Given the description of an element on the screen output the (x, y) to click on. 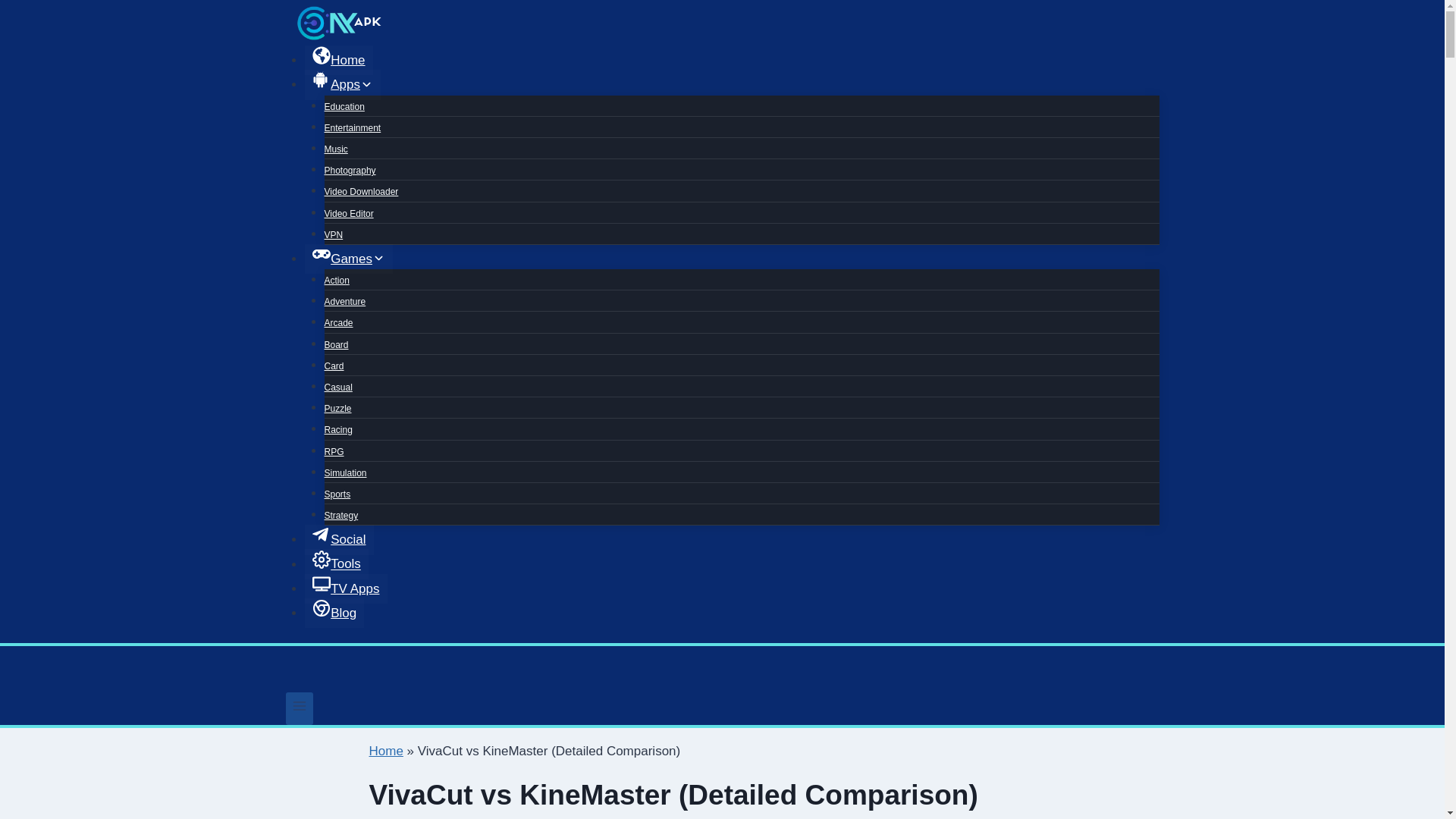
Adventure (345, 301)
Apps (342, 84)
Home (385, 750)
Photography (349, 170)
Tools (336, 563)
Education (344, 106)
Entertainment (352, 127)
Video Downloader (361, 191)
Games (348, 258)
Blog (334, 613)
Strategy (341, 515)
Social (339, 539)
Home (338, 60)
Sports (337, 493)
Puzzle (338, 408)
